Given the description of an element on the screen output the (x, y) to click on. 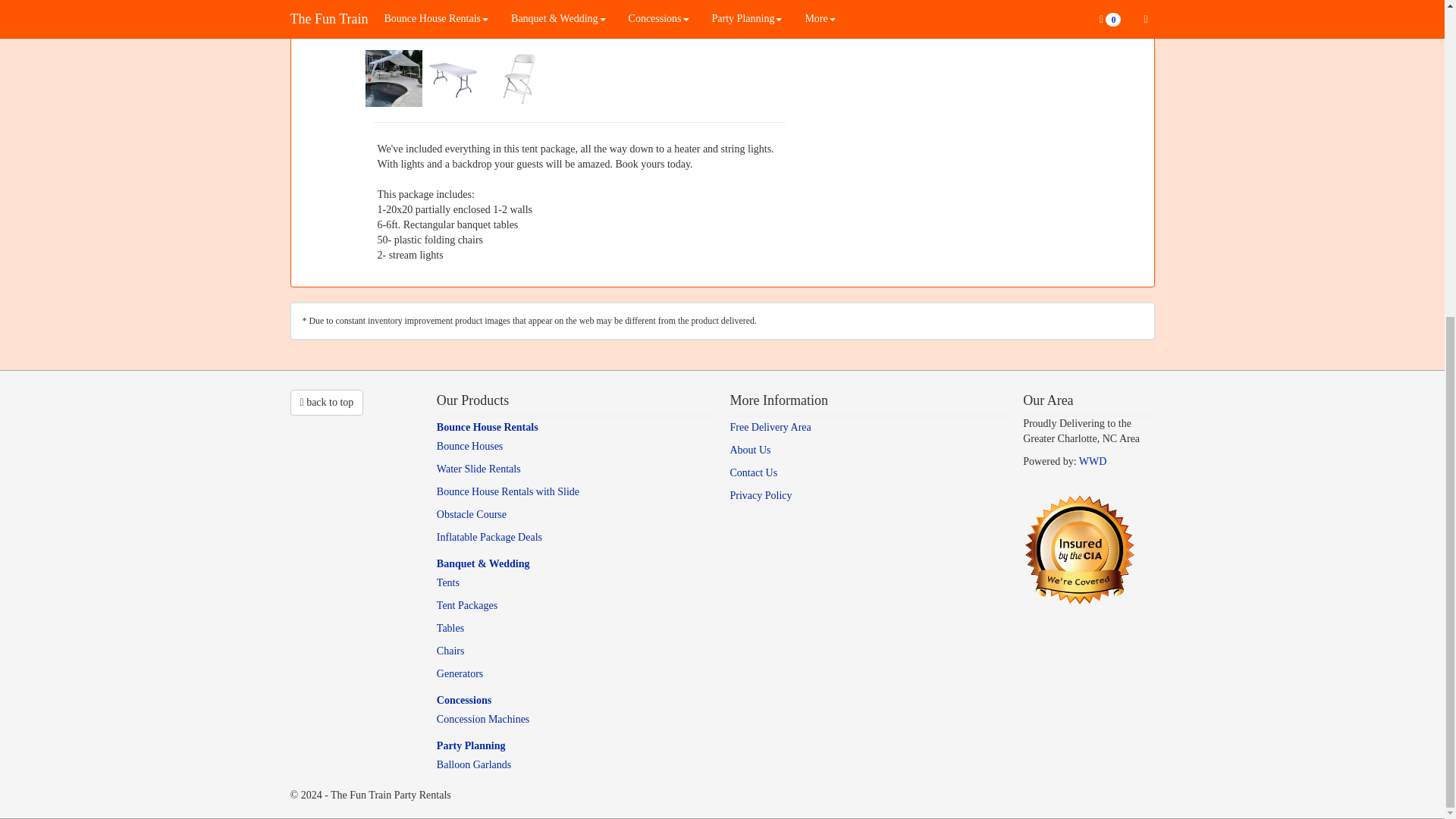
Plastic-Folding-Chair (519, 76)
Medium Tent Package (395, 76)
6-Foot-Rectangular-Table (454, 76)
